Given the description of an element on the screen output the (x, y) to click on. 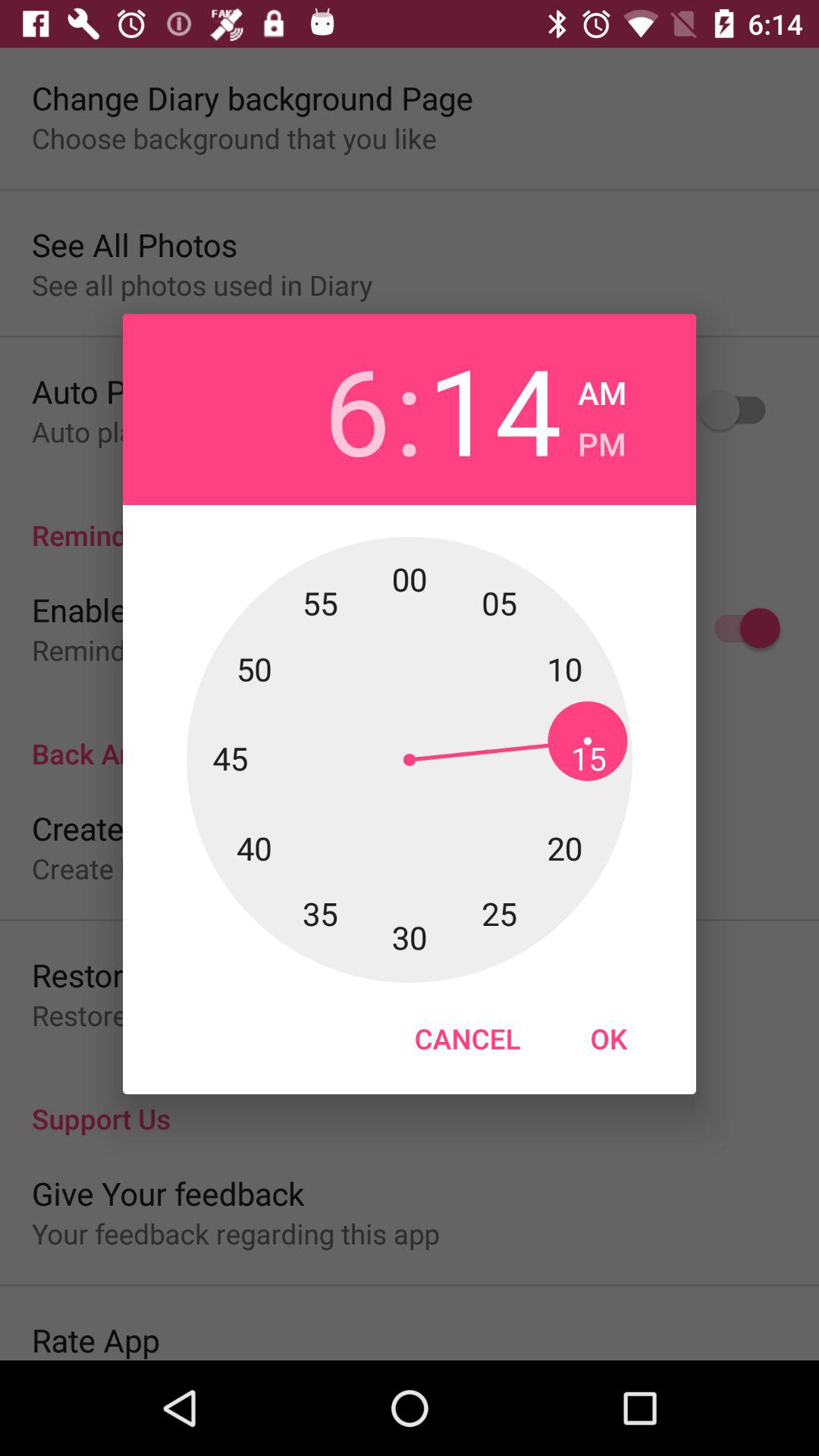
turn off the icon below the am icon (601, 439)
